Given the description of an element on the screen output the (x, y) to click on. 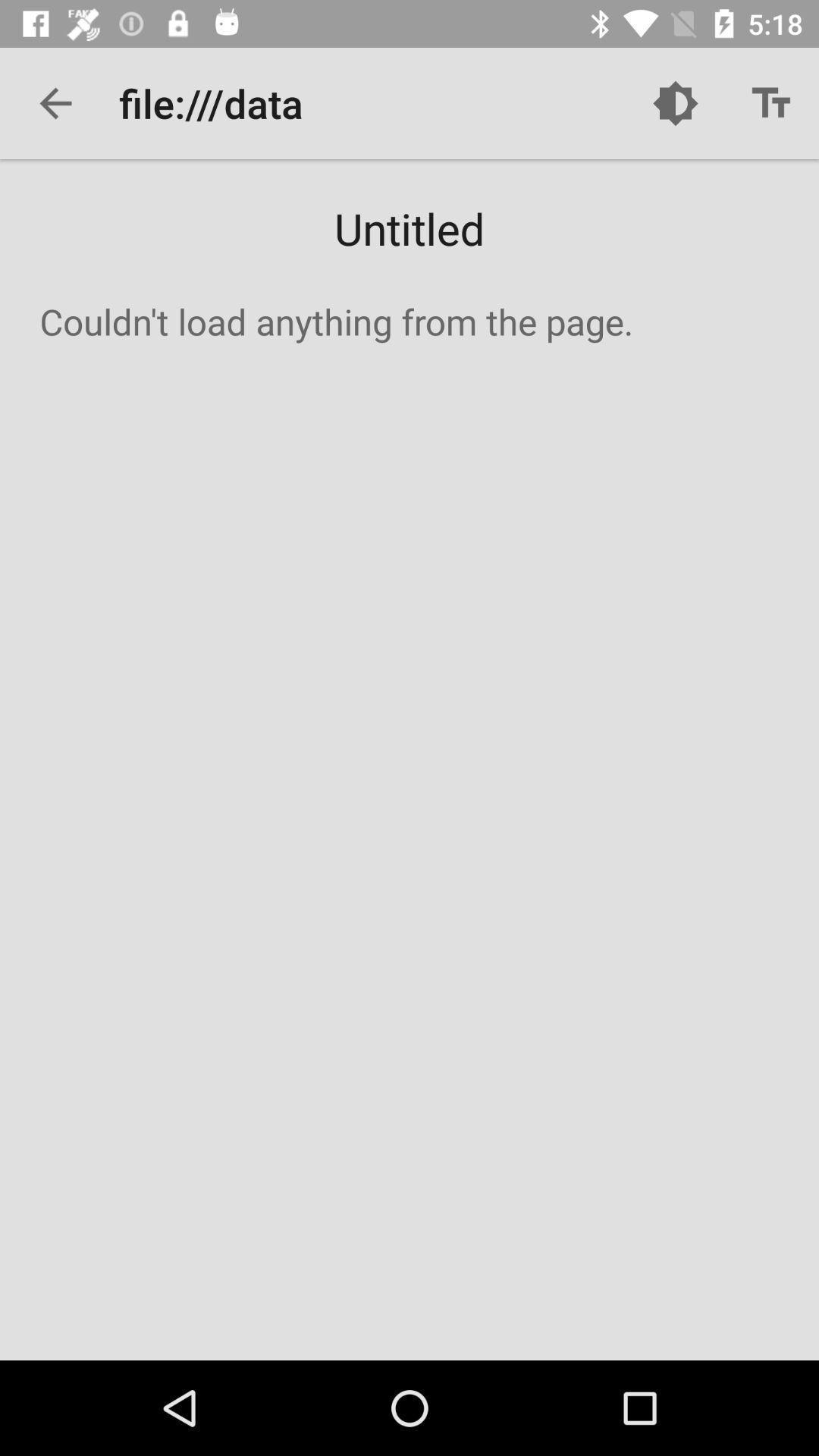
select item above untitled item (55, 103)
